Given the description of an element on the screen output the (x, y) to click on. 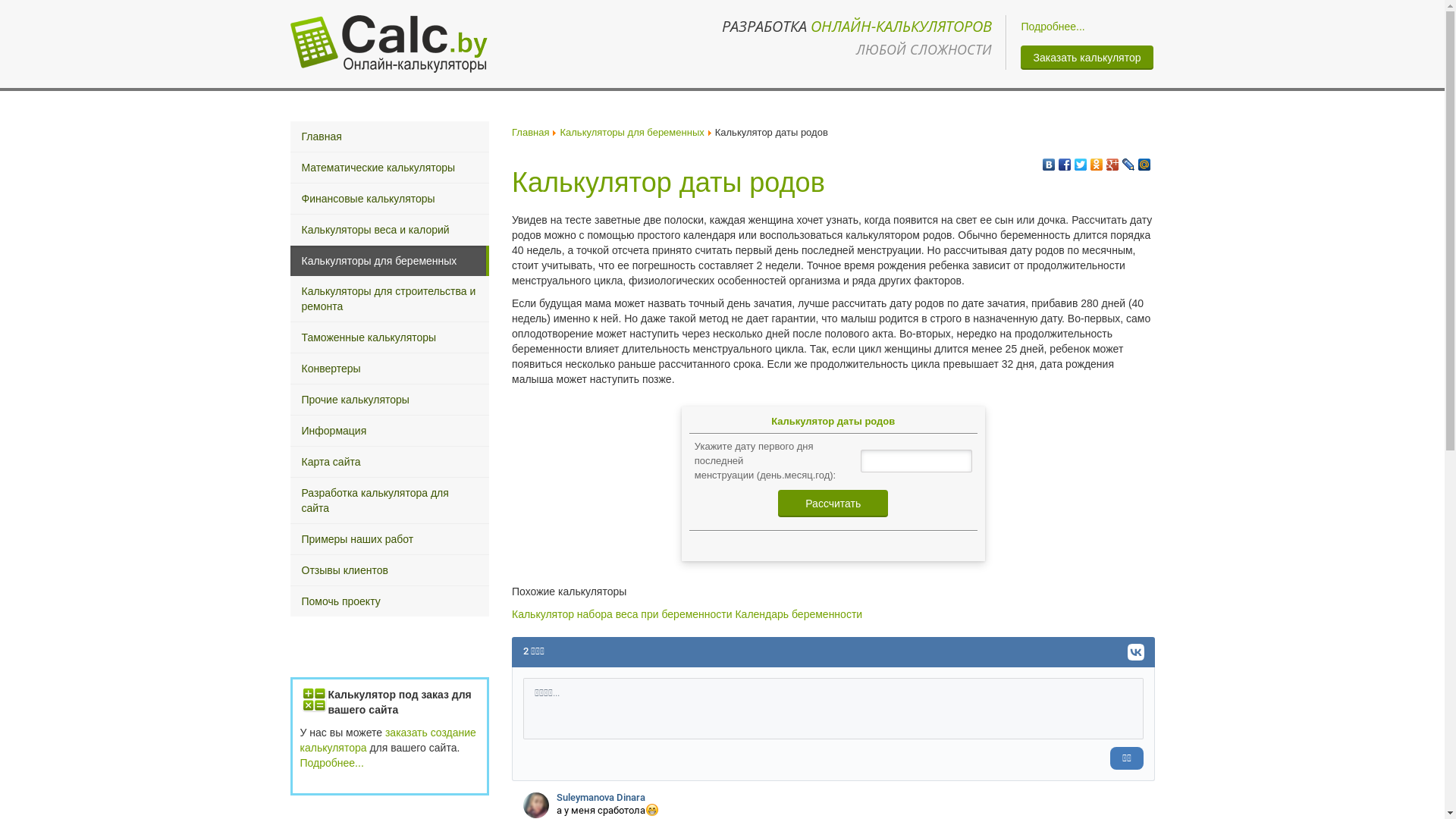
calc.by Element type: hover (387, 43)
Facebook Element type: hover (1065, 160)
Google Plus Element type: hover (1112, 160)
LiveJournal Element type: hover (1128, 160)
Twitter Element type: hover (1080, 160)
